Given the description of an element on the screen output the (x, y) to click on. 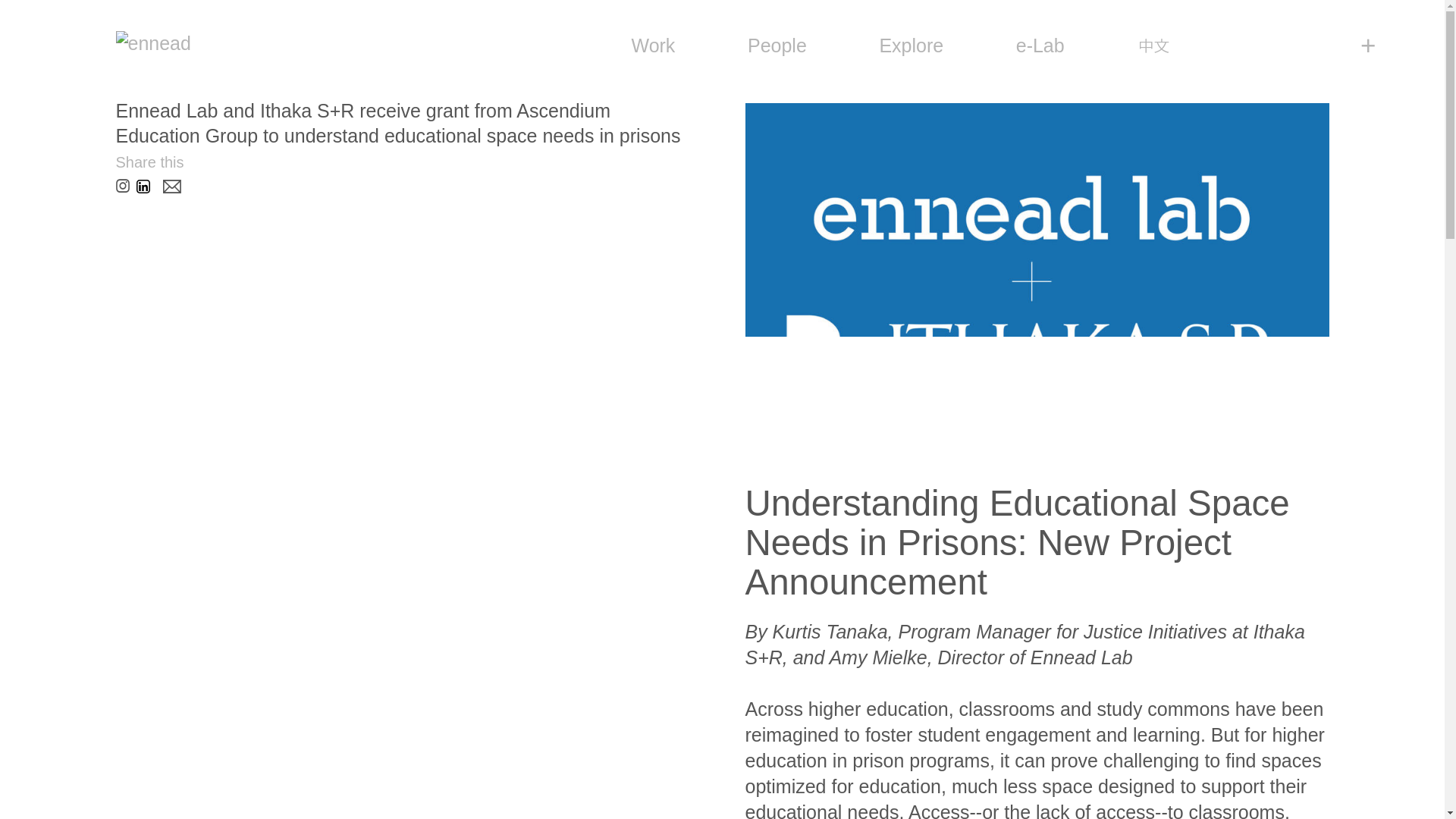
Work (652, 45)
Explore (911, 45)
People (777, 45)
ennead (152, 41)
e-Lab (1040, 45)
